Given the description of an element on the screen output the (x, y) to click on. 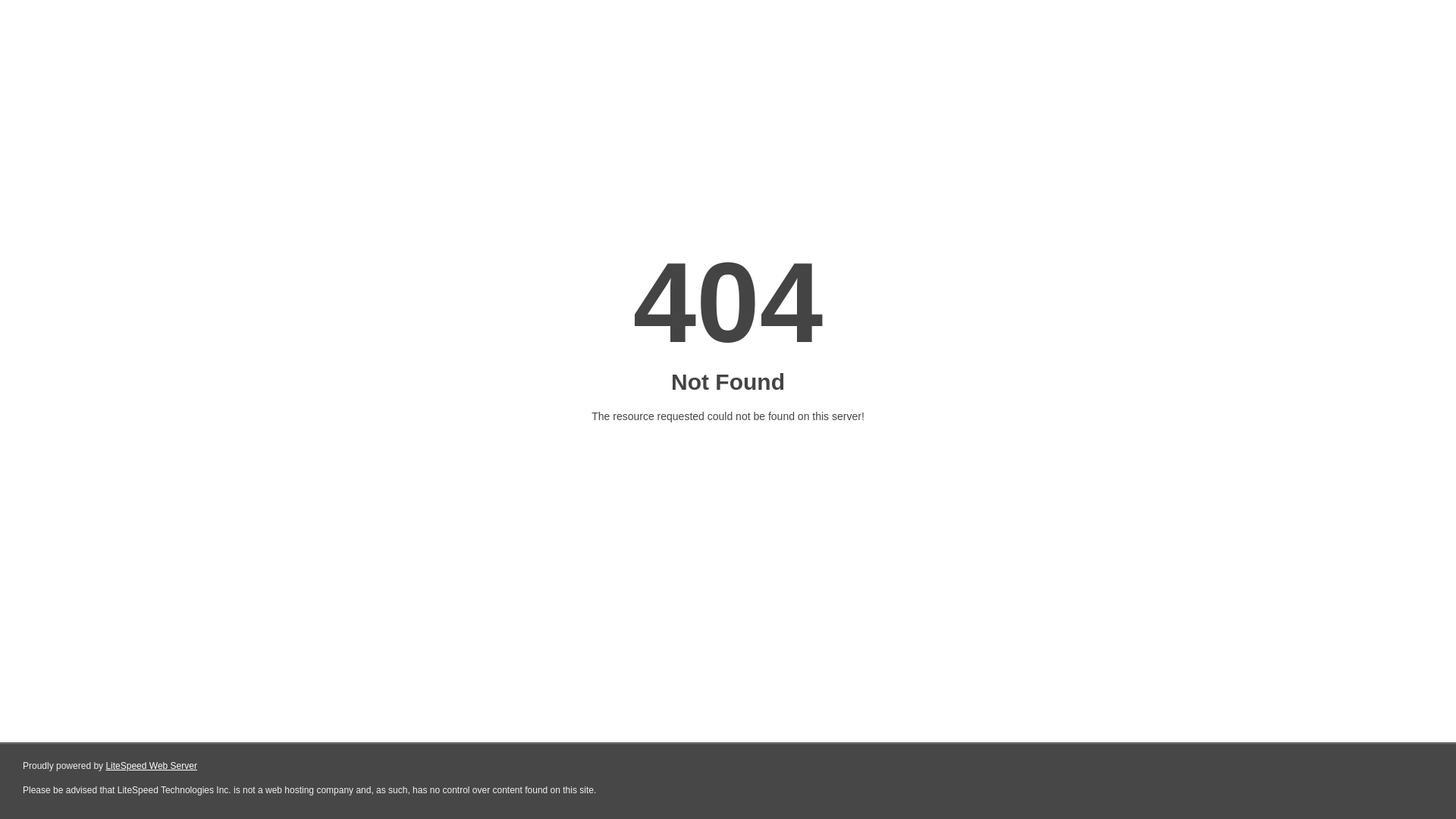
LiteSpeed Web Server (150, 765)
